Given the description of an element on the screen output the (x, y) to click on. 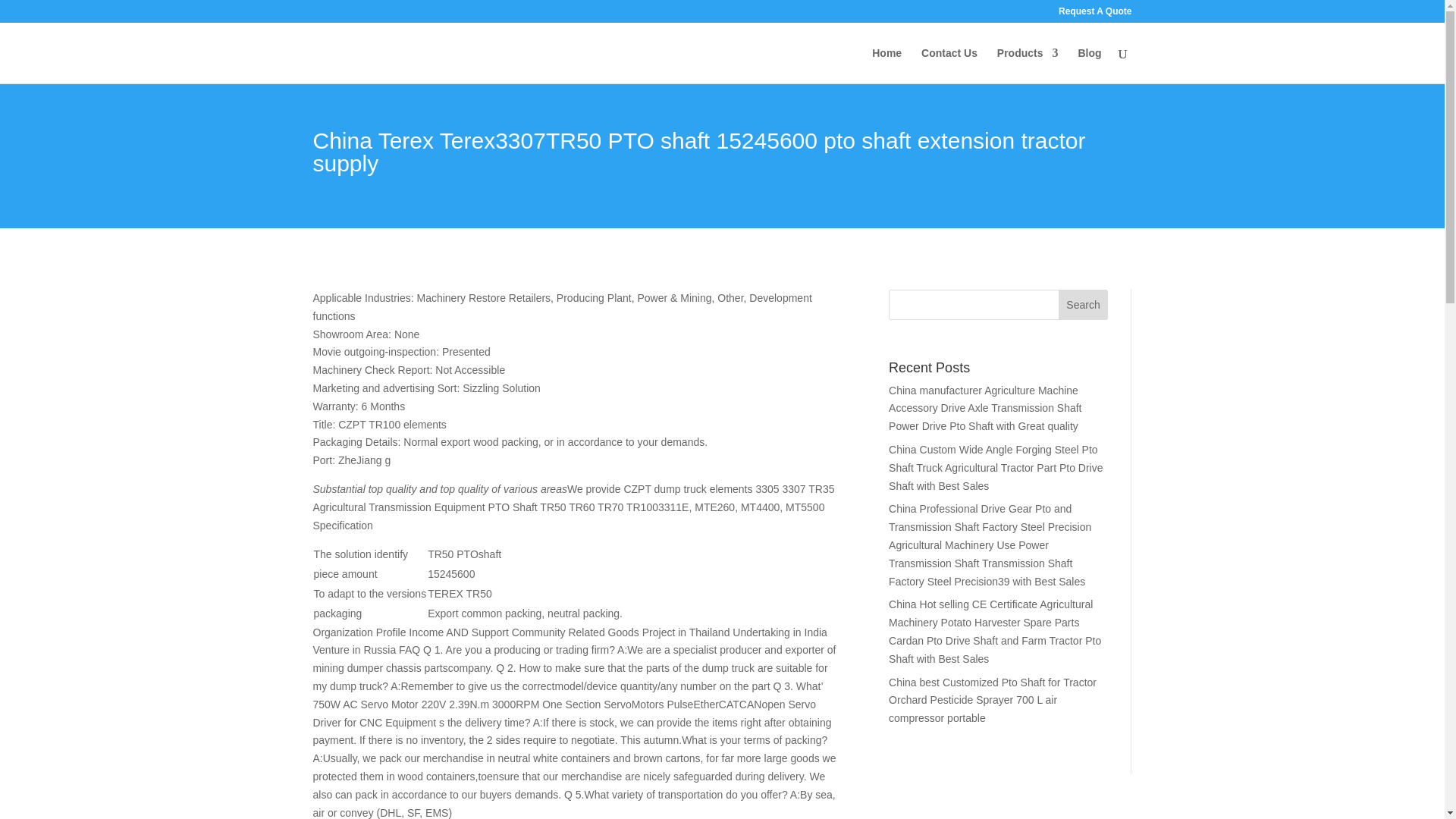
Request A Quote (1094, 14)
Search (1083, 304)
Contact Us (948, 65)
Search (1083, 304)
Products (1027, 65)
